Given the description of an element on the screen output the (x, y) to click on. 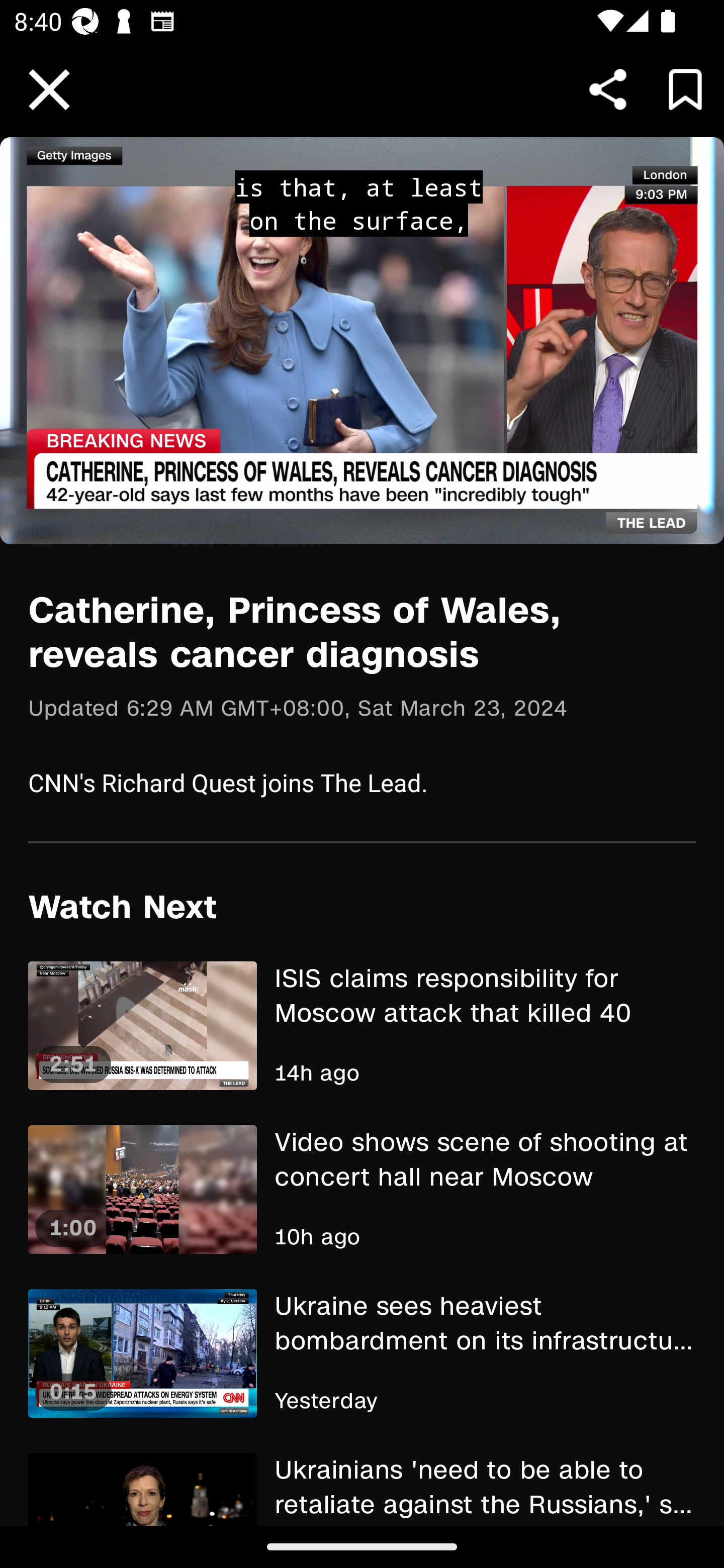
Close (48, 89)
Share (607, 89)
Bookmark (685, 89)
CNN's Richard Quest joins The Lead. (362, 782)
